Given the description of an element on the screen output the (x, y) to click on. 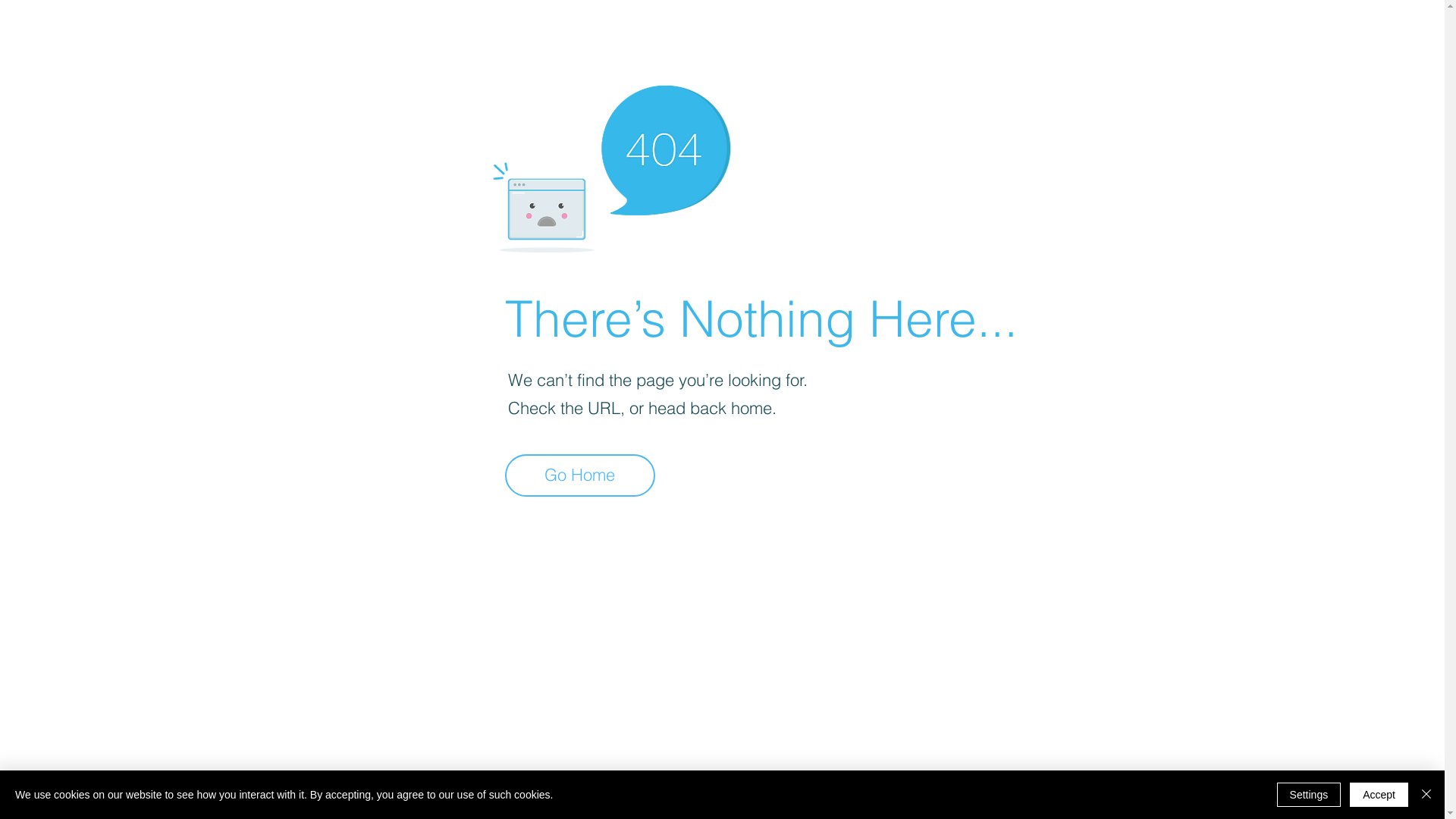
Go Home Element type: text (580, 475)
Accept Element type: text (1378, 794)
404-icon_2.png Element type: hover (610, 164)
Settings Element type: text (1309, 794)
